Given the description of an element on the screen output the (x, y) to click on. 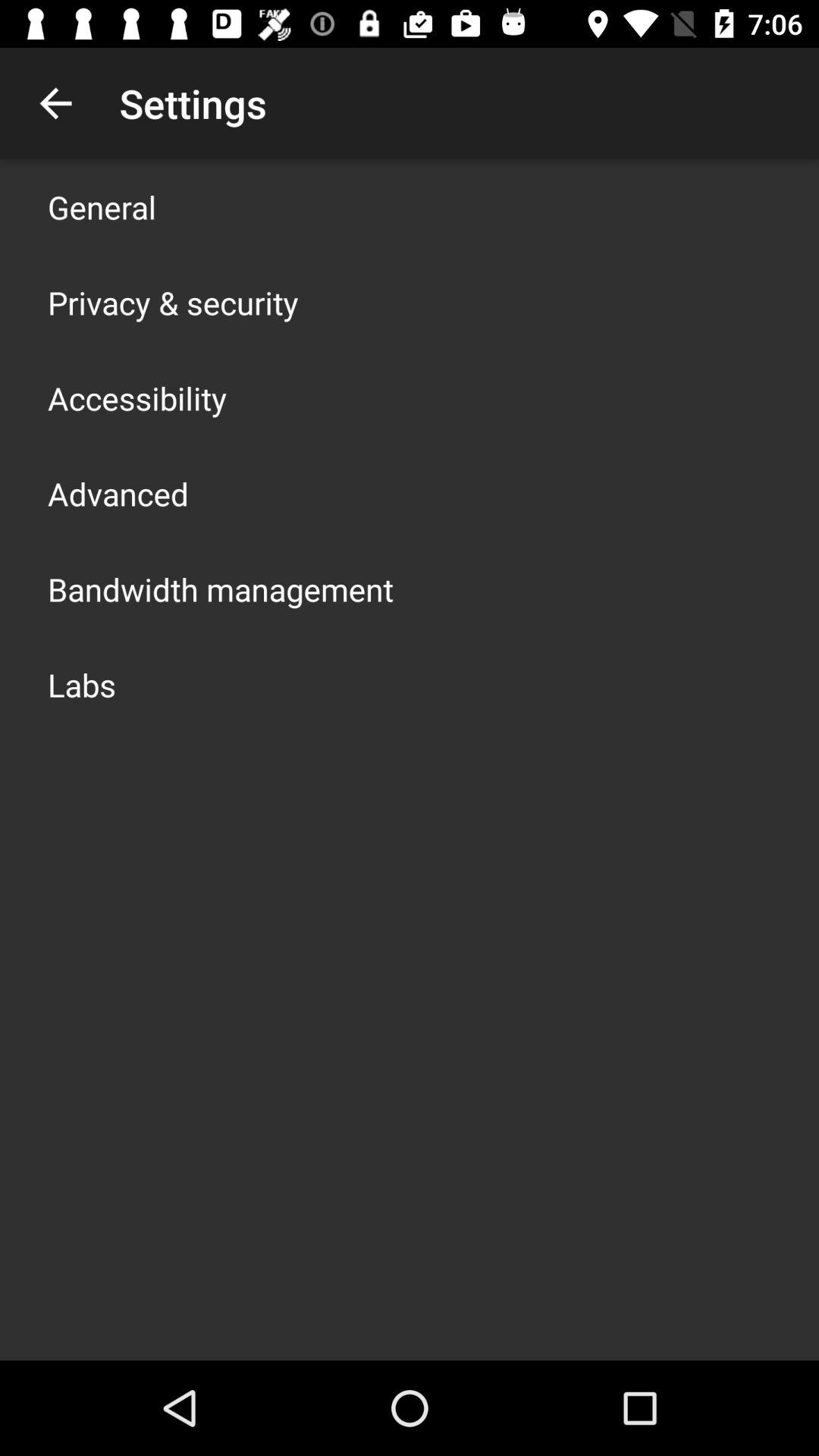
swipe until the labs app (81, 684)
